Given the description of an element on the screen output the (x, y) to click on. 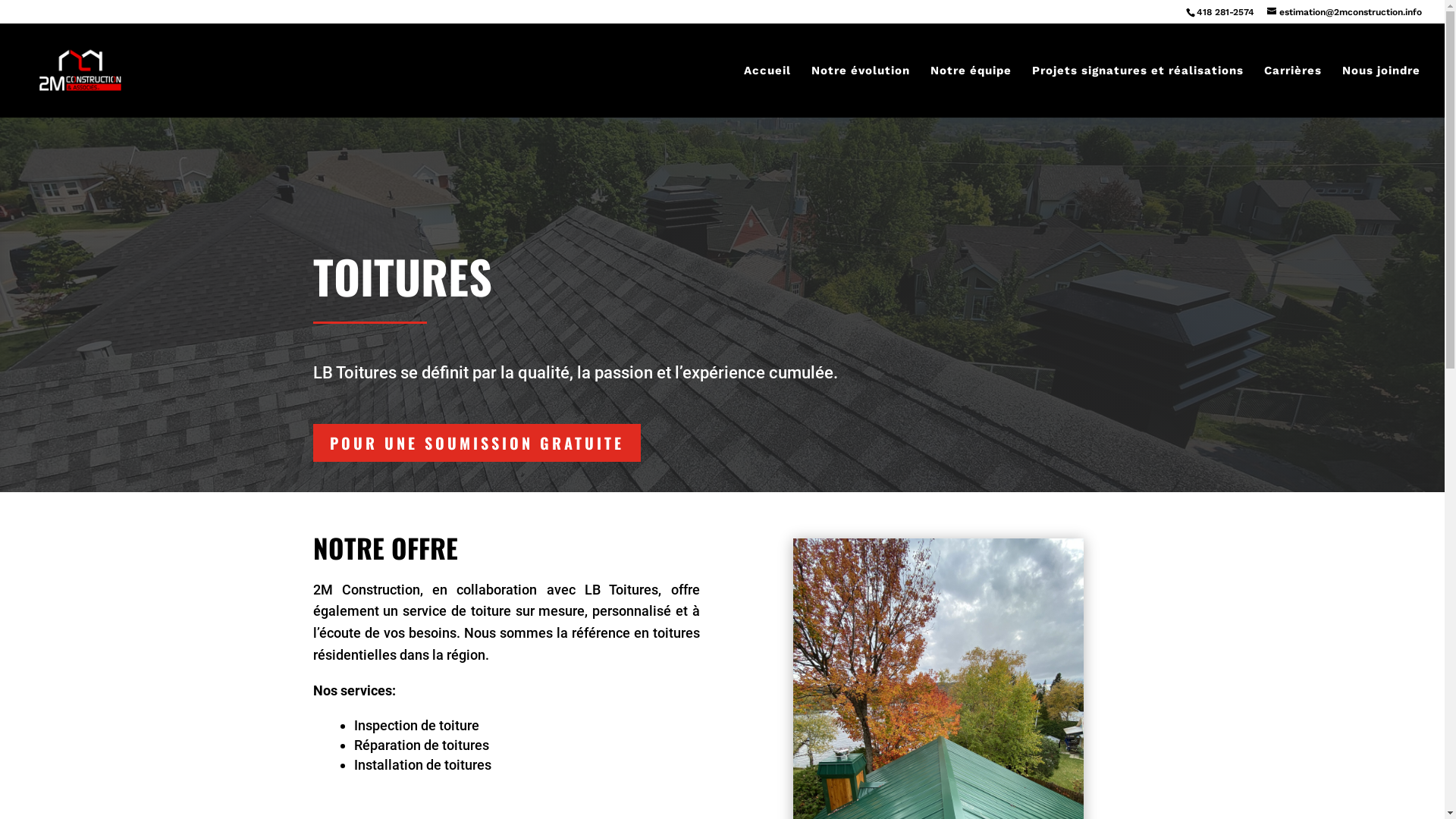
POUR UNE SOUMISSION GRATUITE Element type: text (476, 442)
Nous joindre Element type: text (1381, 91)
Accueil Element type: text (766, 91)
estimation@2mconstruction.info Element type: text (1344, 11)
